Given the description of an element on the screen output the (x, y) to click on. 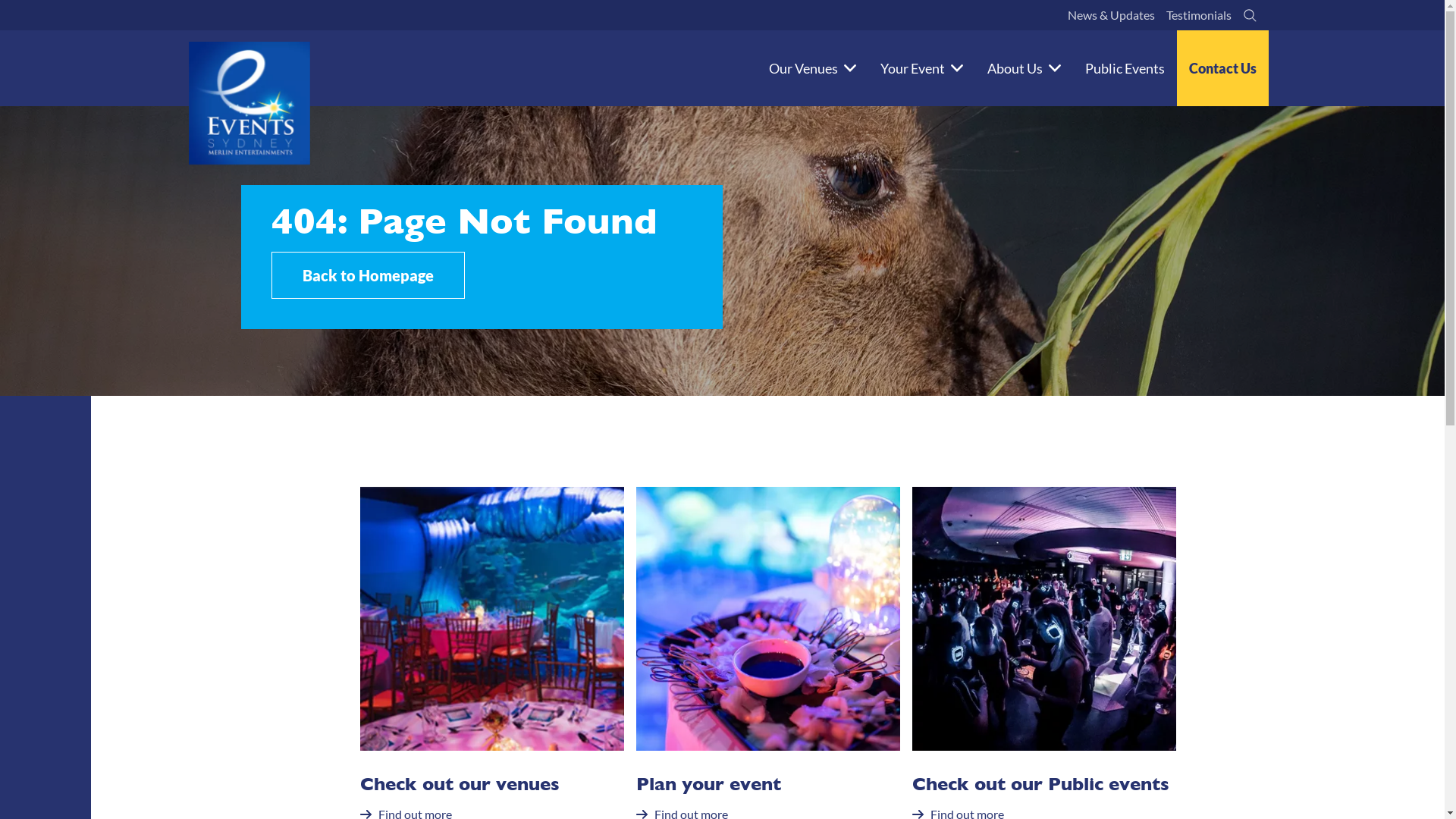
News & Updates Element type: text (1110, 15)
Our Venues Element type: text (812, 68)
Contact Us Element type: text (1222, 68)
Search Element type: text (1249, 14)
Public Events Element type: text (1124, 68)
About Us Element type: text (1024, 68)
Your Event Element type: text (920, 68)
Testimonials Element type: text (1197, 15)
Back to Homepage Element type: text (367, 274)
